Given the description of an element on the screen output the (x, y) to click on. 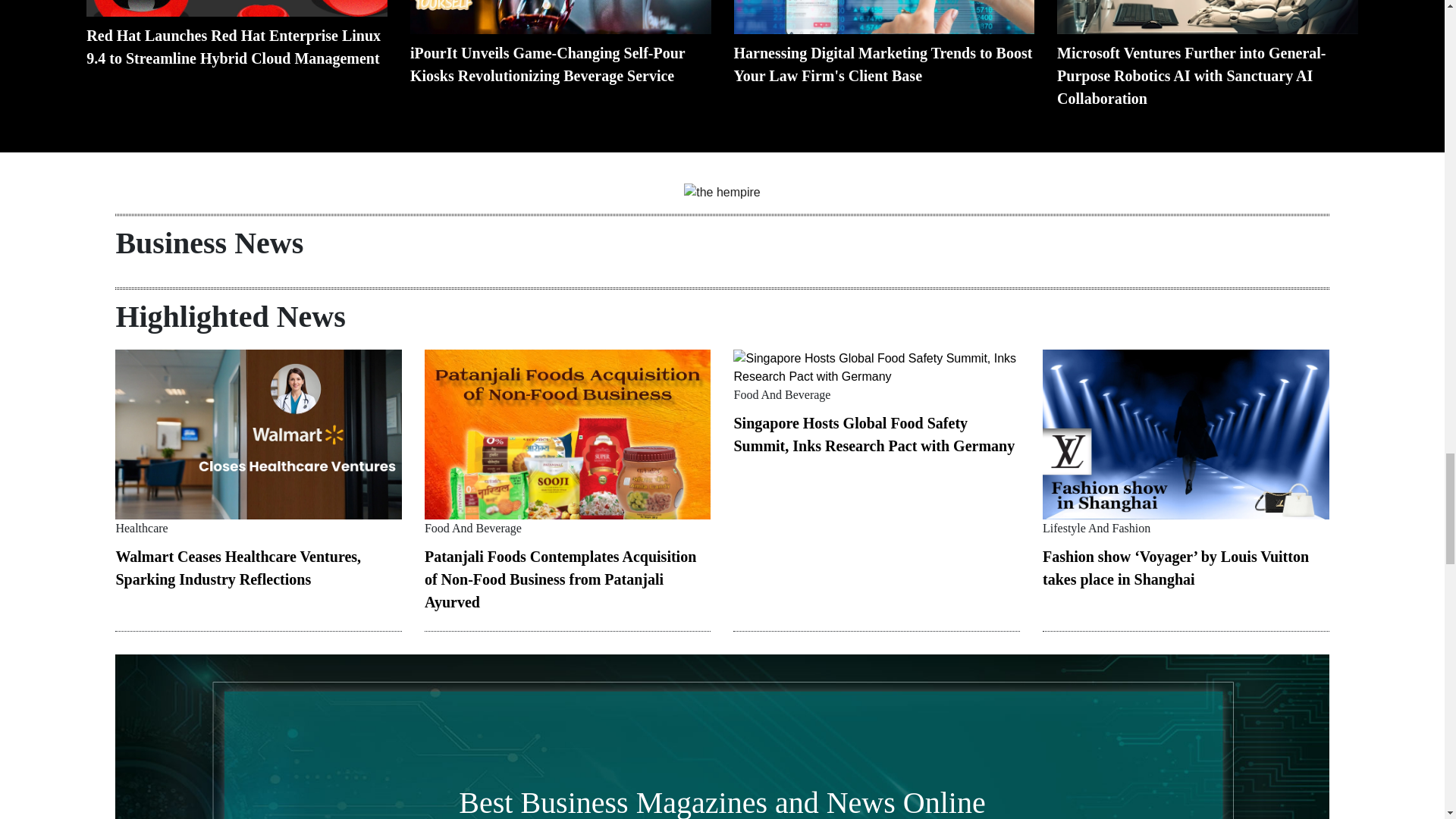
www.thehempire.com (722, 192)
